Given the description of an element on the screen output the (x, y) to click on. 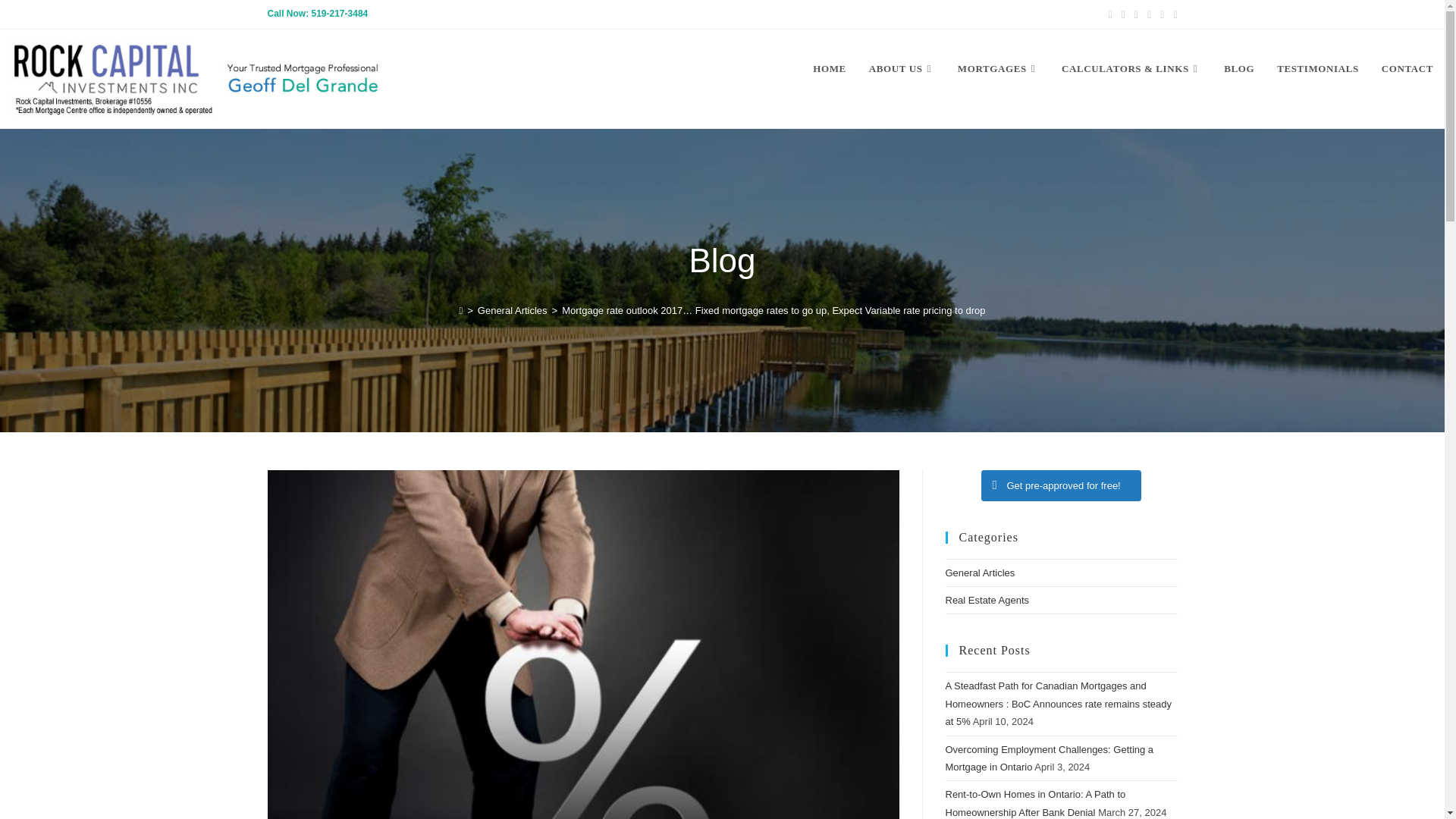
MORTGAGES (997, 68)
ABOUT US (901, 68)
HOME (829, 68)
BLOG (1238, 68)
General Articles (512, 310)
TESTIMONIALS (1317, 68)
